Given the description of an element on the screen output the (x, y) to click on. 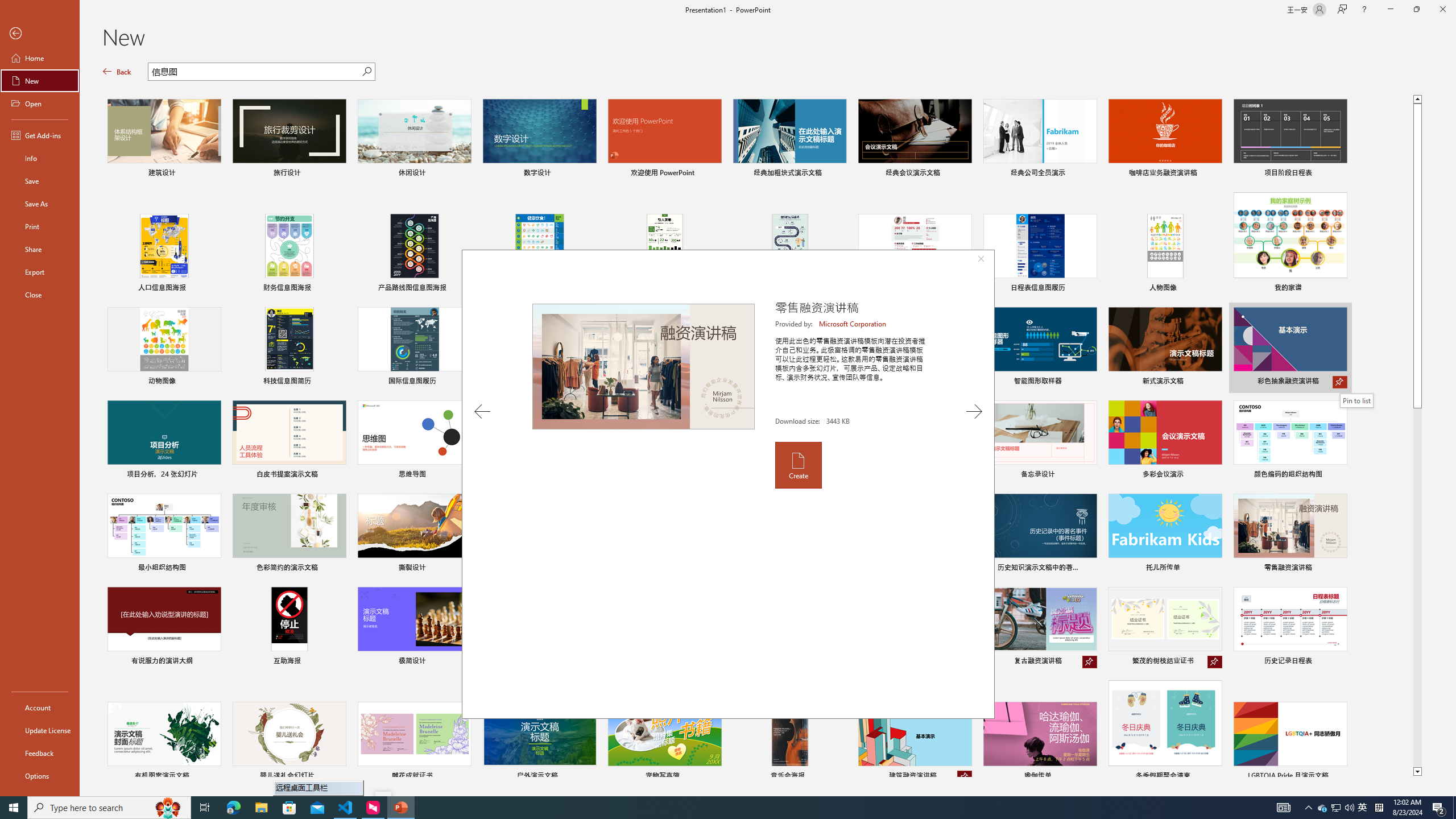
Save As (40, 203)
